Given the description of an element on the screen output the (x, y) to click on. 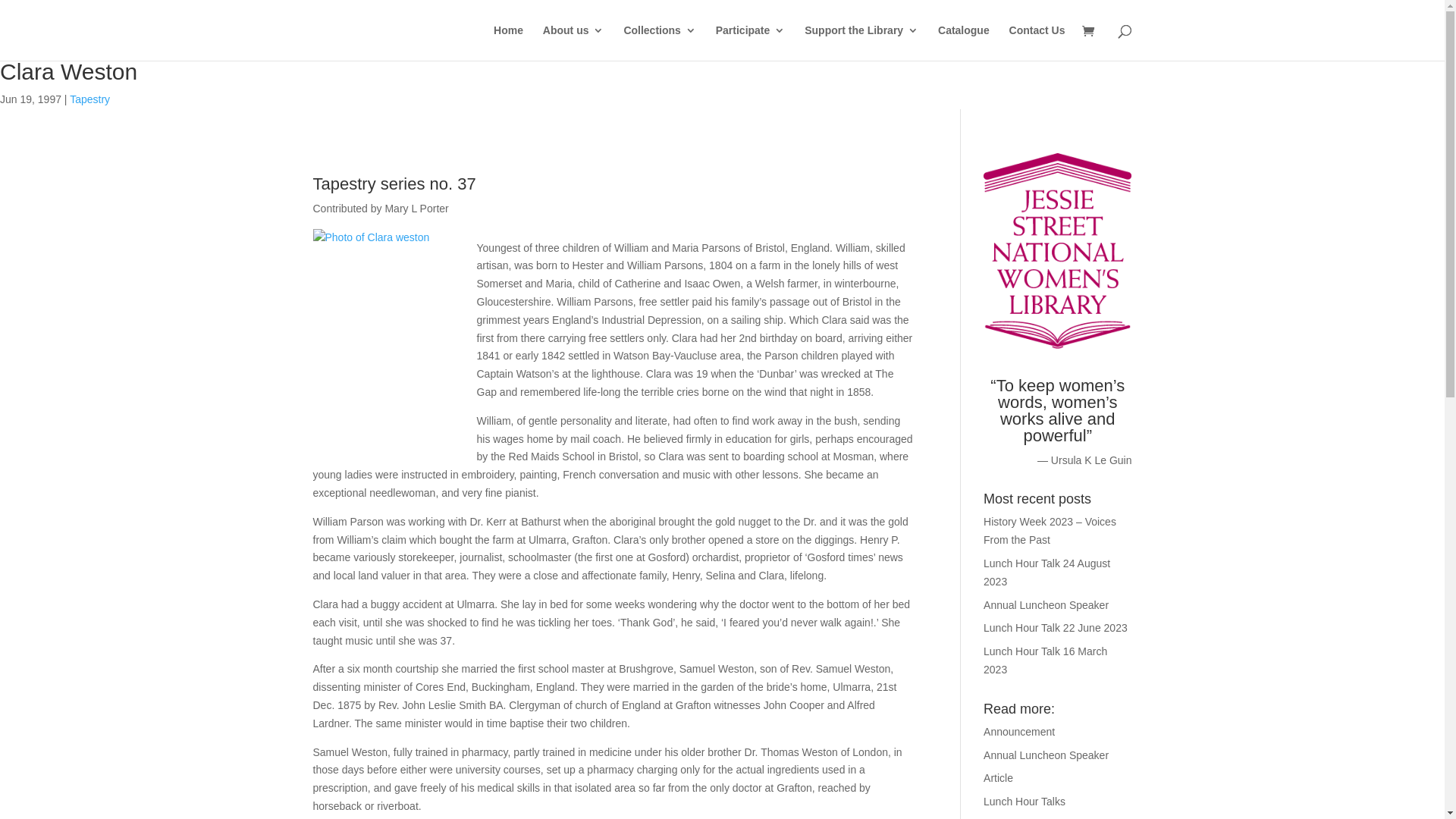
Lunch Hour Talk 16 March 2023 Element type: text (1045, 660)
Announcement Element type: text (1018, 731)
Collections Element type: text (659, 42)
Tapestry Element type: text (89, 99)
Article Element type: text (998, 777)
About us Element type: text (573, 42)
Annual Luncheon Speaker Element type: text (1045, 605)
Annual Luncheon Speaker Element type: text (1045, 755)
Lunch Hour Talk 24 August 2023 Element type: text (1046, 572)
Home Element type: text (508, 42)
Lunch Hour Talks Element type: text (1024, 801)
Catalogue Element type: text (963, 42)
Contact Us Element type: text (1037, 42)
Participate Element type: text (750, 42)
Lunch Hour Talk 22 June 2023 Element type: text (1055, 627)
Support the Library Element type: text (861, 42)
